Given the description of an element on the screen output the (x, y) to click on. 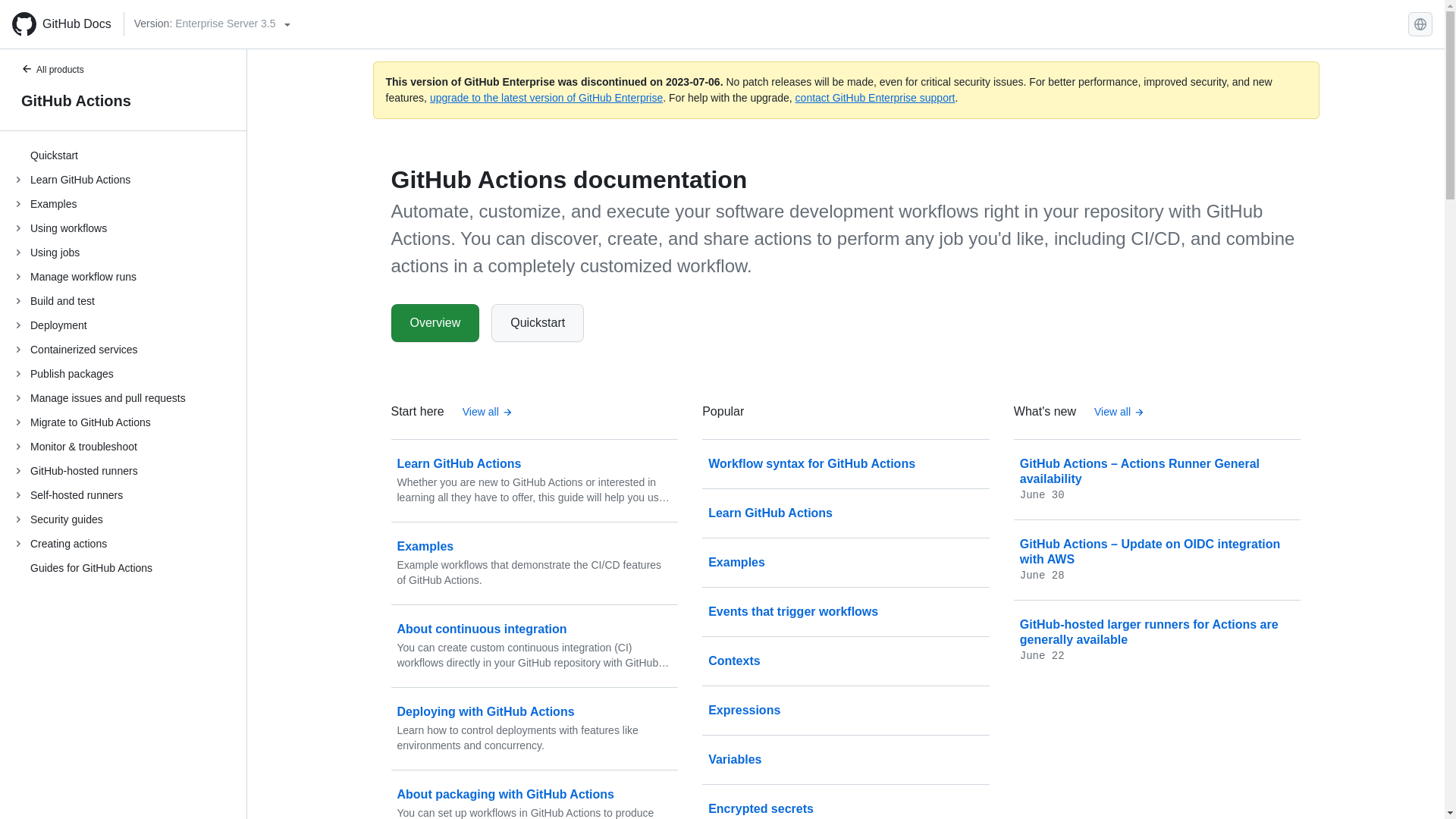
Contexts (845, 660)
Encrypted secrets (845, 804)
Version: Enterprise Server 3.5 (212, 24)
View all (1119, 412)
All products (60, 70)
Learn GitHub Actions (845, 513)
2023-07-06 (692, 81)
Quickstart (537, 322)
Variables (845, 759)
Overview (435, 322)
Workflow syntax for GitHub Actions (845, 464)
upgrade to the latest version of GitHub Enterprise (545, 97)
View all (487, 412)
